Given the description of an element on the screen output the (x, y) to click on. 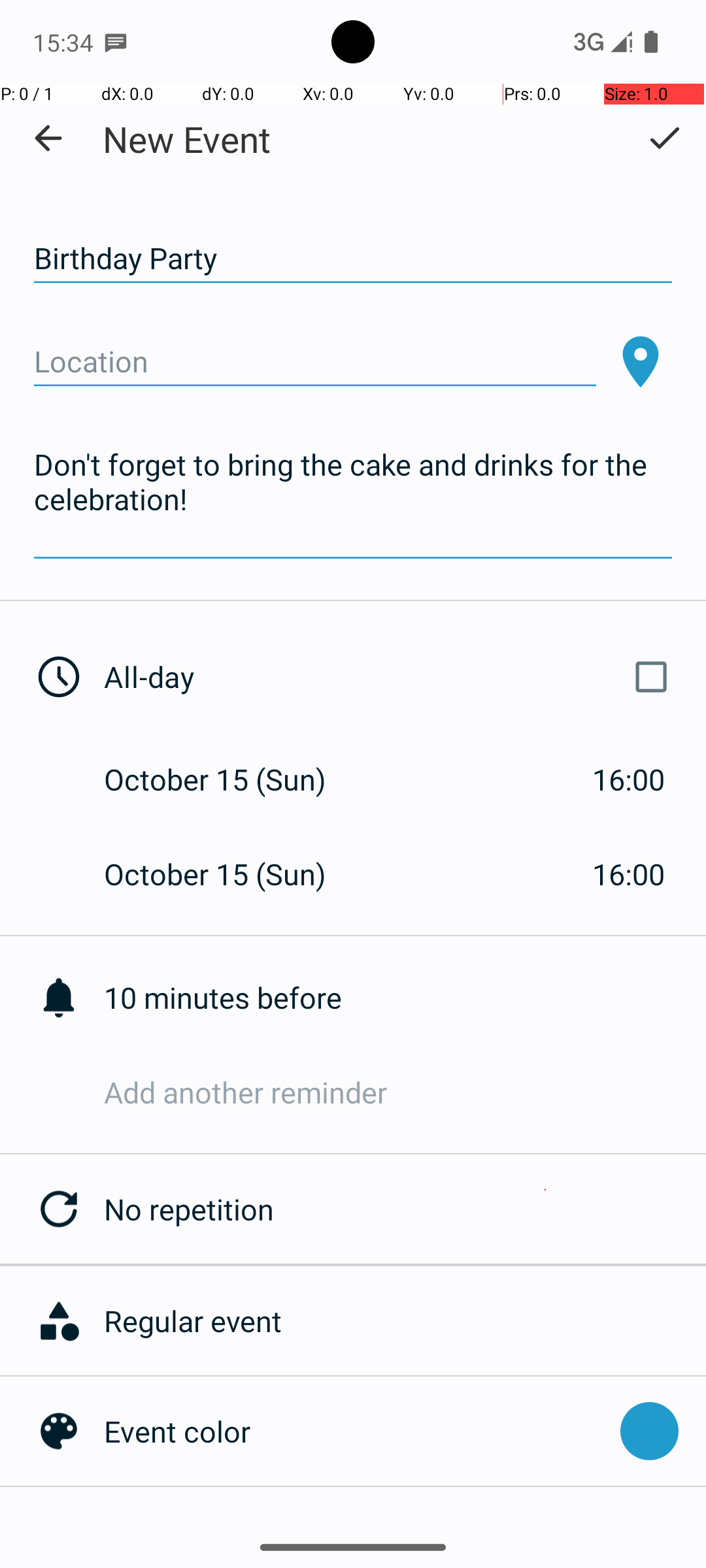
Birthday Party Element type: android.widget.EditText (352, 258)
Don't forget to bring the cake and drinks for the celebration!
 Element type: android.widget.EditText (352, 499)
10 minutes before Element type: android.widget.TextView (404, 996)
Add another reminder Element type: android.widget.TextView (404, 1091)
